Given the description of an element on the screen output the (x, y) to click on. 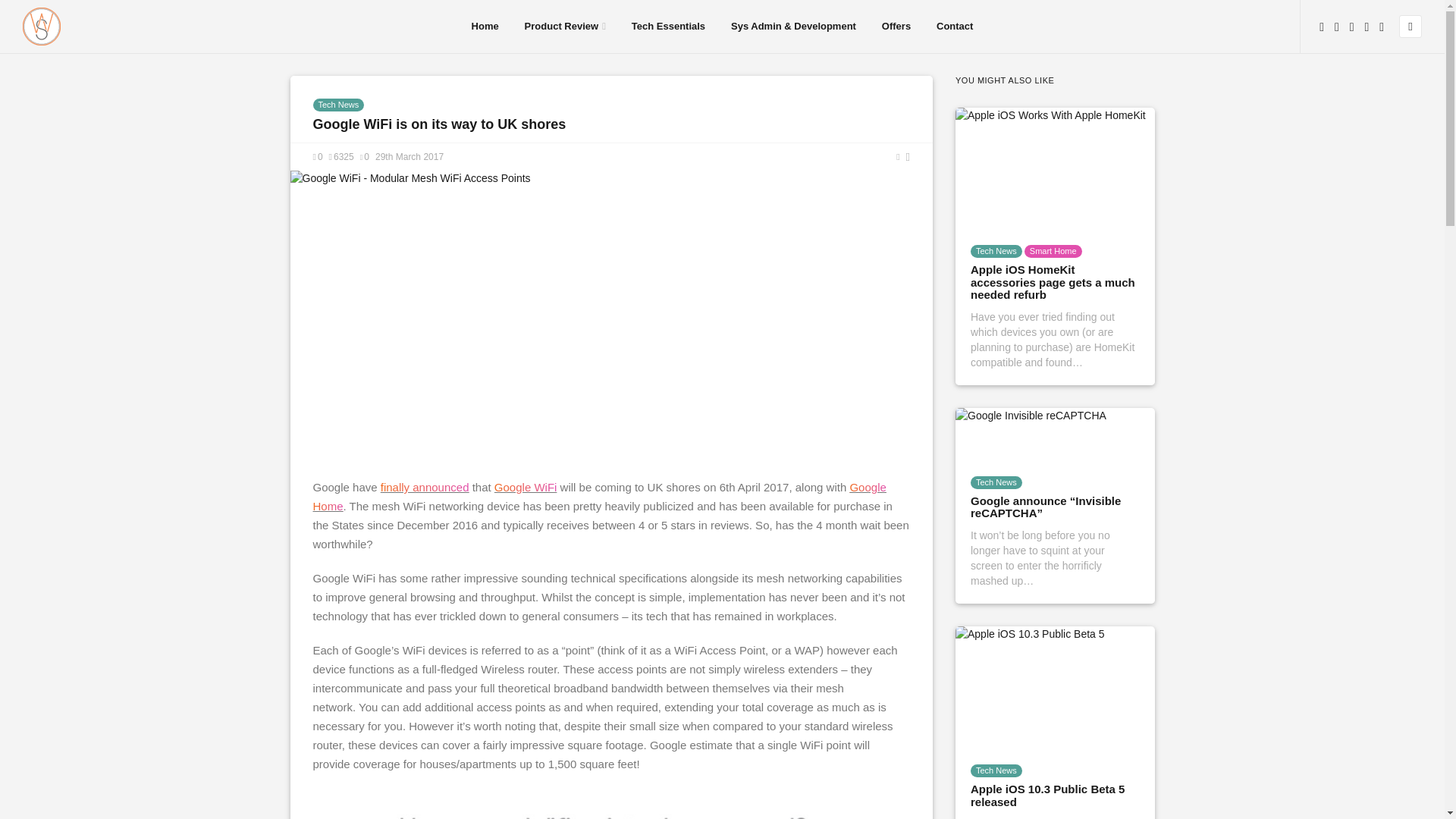
Tech Essentials (667, 26)
6325 (341, 156)
Tech News (338, 104)
0 (364, 156)
Product Review (564, 26)
0 (317, 156)
